Given the description of an element on the screen output the (x, y) to click on. 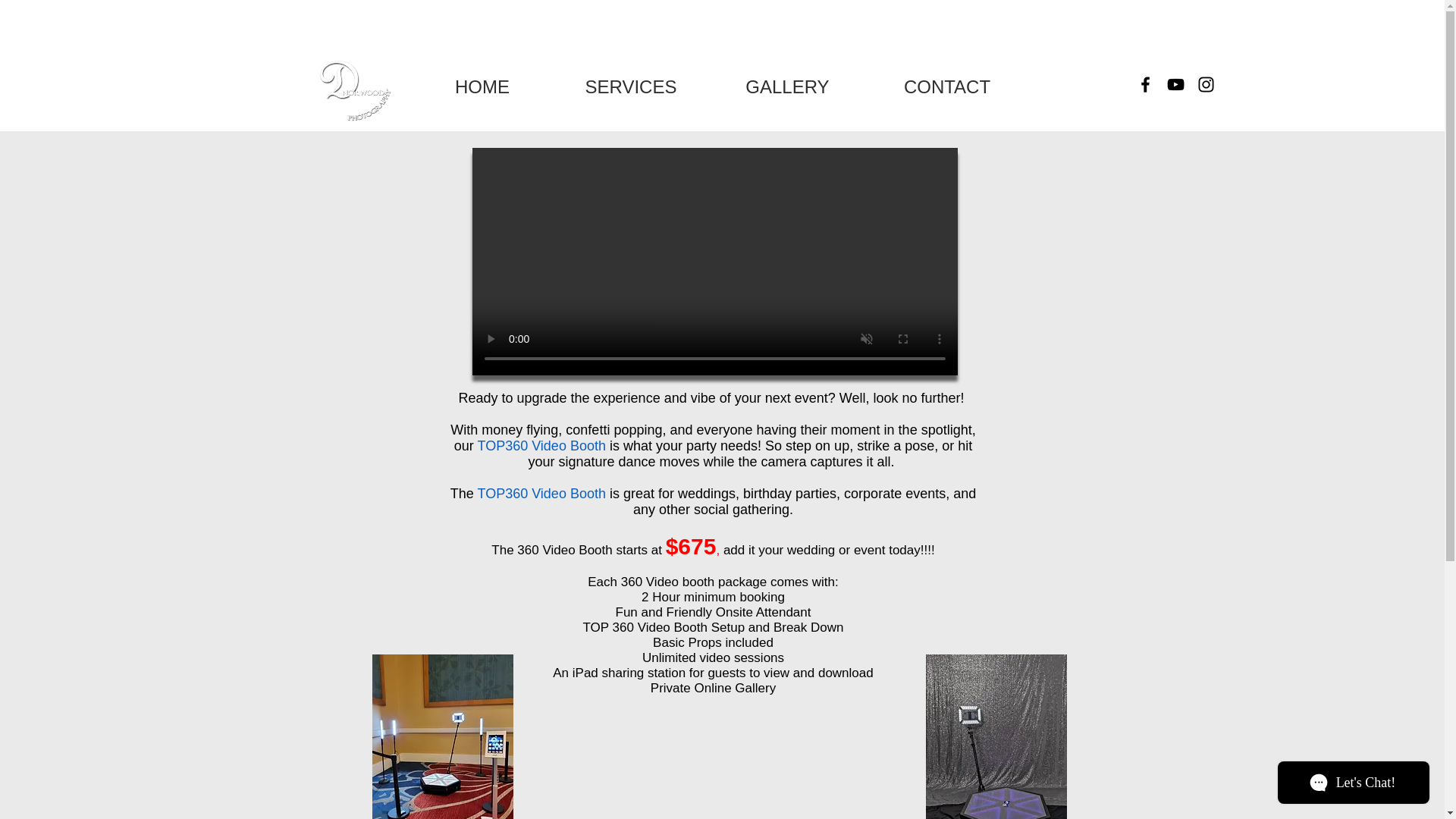
HOME (482, 84)
GALLERY (787, 84)
CONTACT (947, 84)
SERVICES (630, 84)
